Given the description of an element on the screen output the (x, y) to click on. 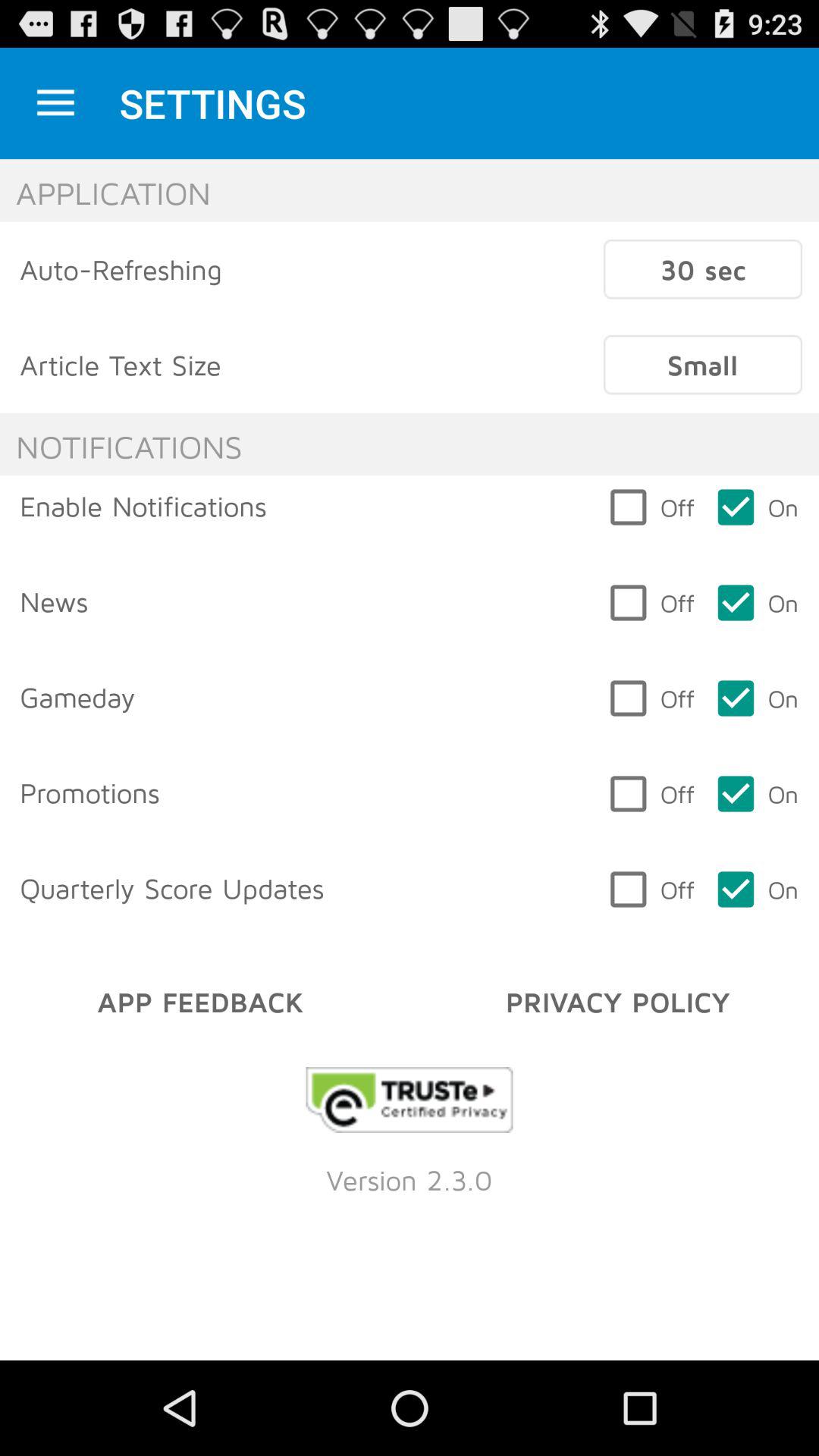
more settings options (55, 103)
